Given the description of an element on the screen output the (x, y) to click on. 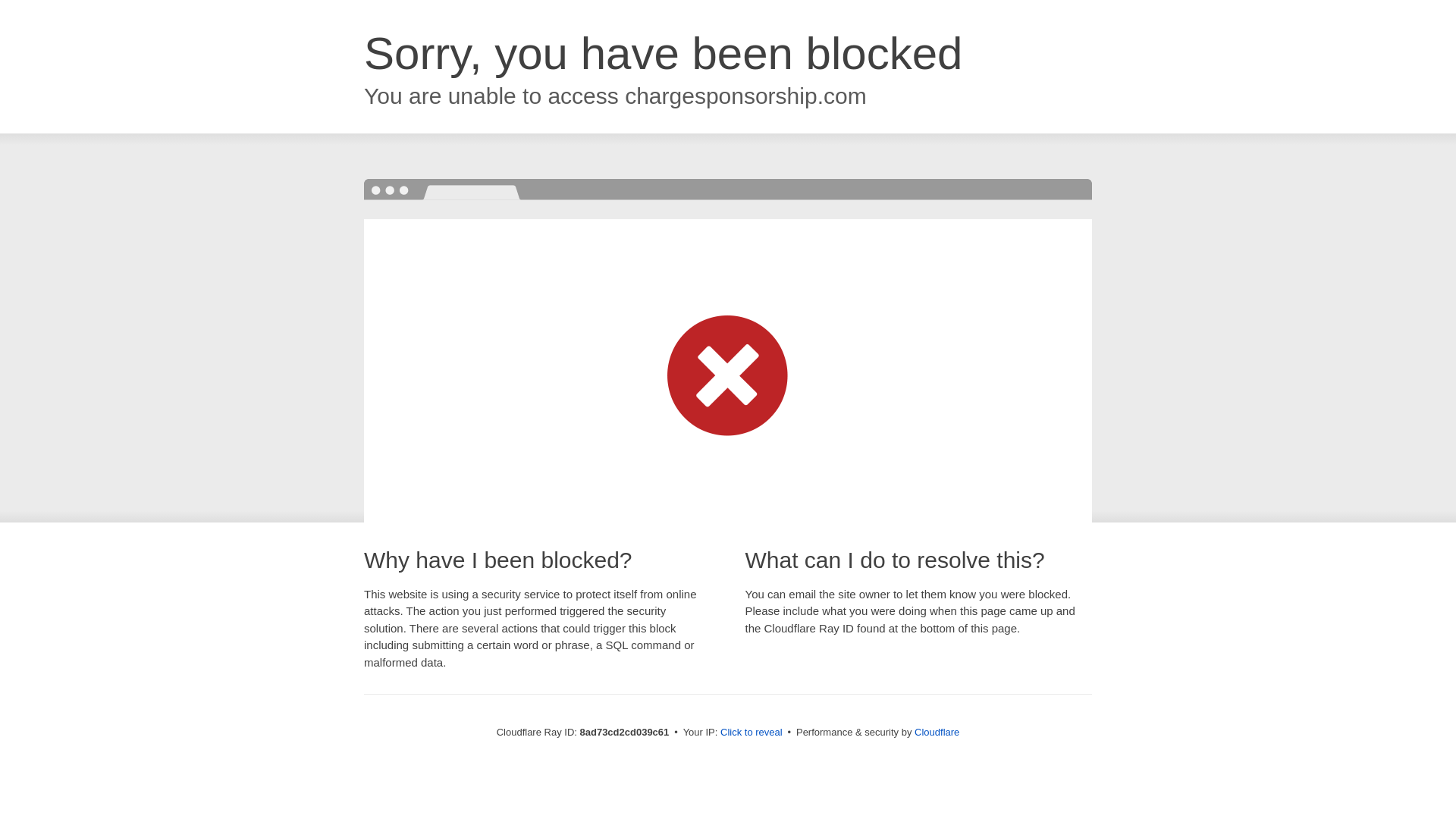
Cloudflare (936, 731)
Click to reveal (751, 732)
